Given the description of an element on the screen output the (x, y) to click on. 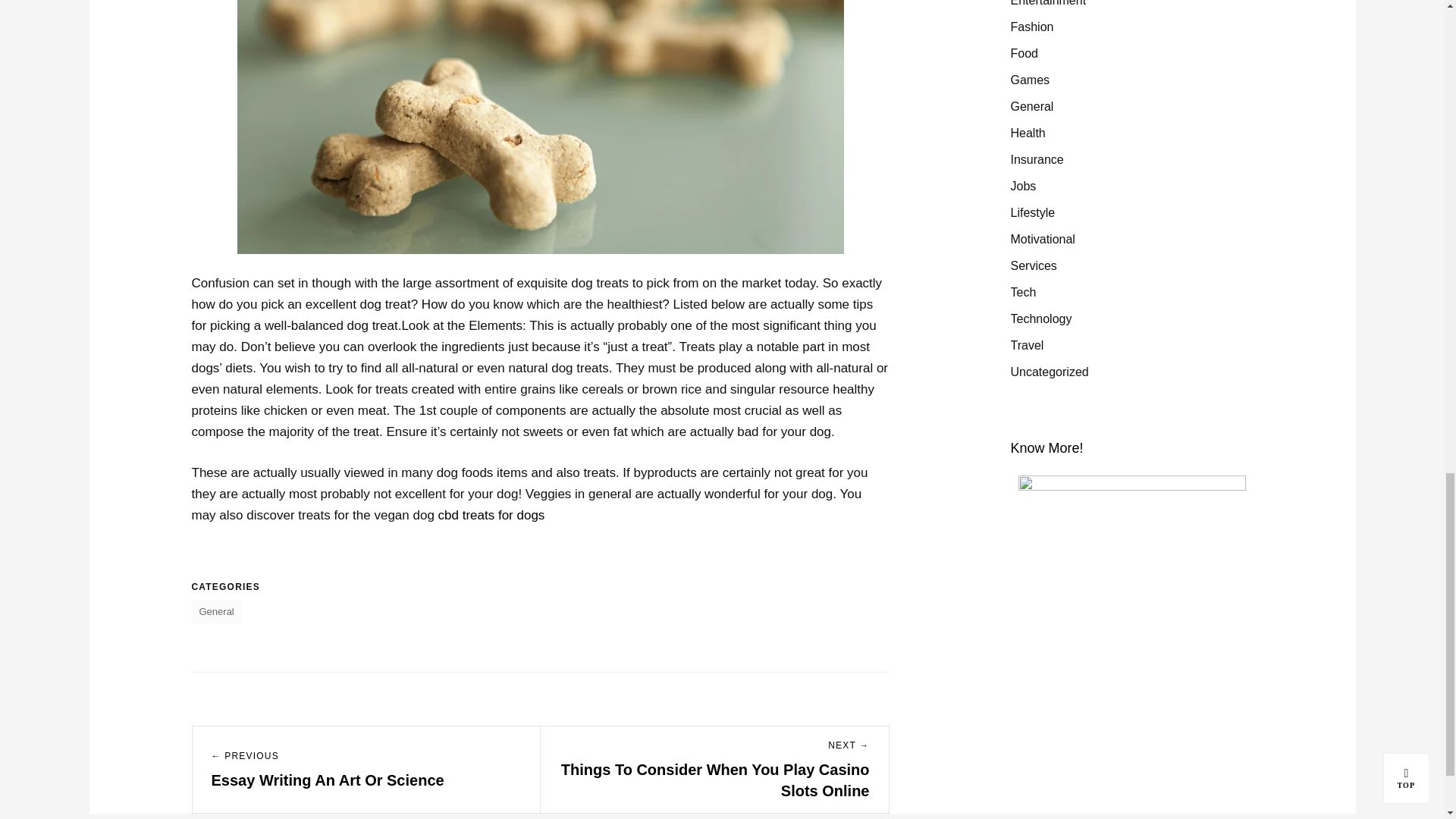
General (1031, 106)
Services (1033, 265)
Games (1029, 79)
Insurance (1036, 159)
Entertainment (1048, 6)
Food (1023, 53)
Lifestyle (1032, 212)
Fashion (1031, 26)
Motivational (1042, 239)
cbd treats for dogs (491, 514)
Jobs (1022, 185)
General (215, 612)
Health (1027, 132)
